Given the description of an element on the screen output the (x, y) to click on. 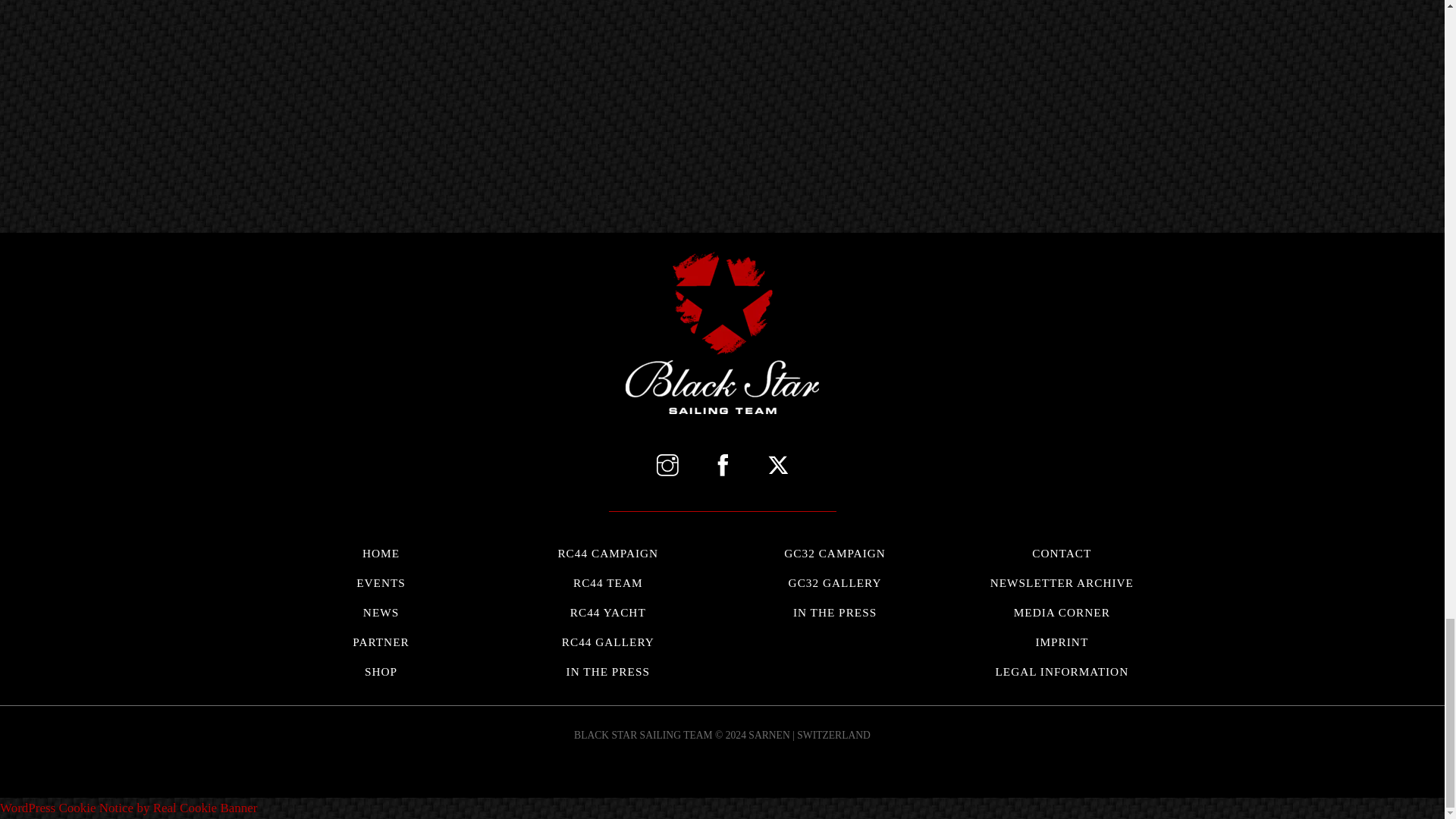
RC44 CAMPAIGN (607, 553)
INSTAGRAM (666, 466)
FACEBOOK (721, 466)
PARTNER (380, 641)
RC44 GALLERY (607, 641)
EVENTS (834, 582)
RC44 YACHT (380, 582)
RC44 TEAM (607, 612)
